Given the description of an element on the screen output the (x, y) to click on. 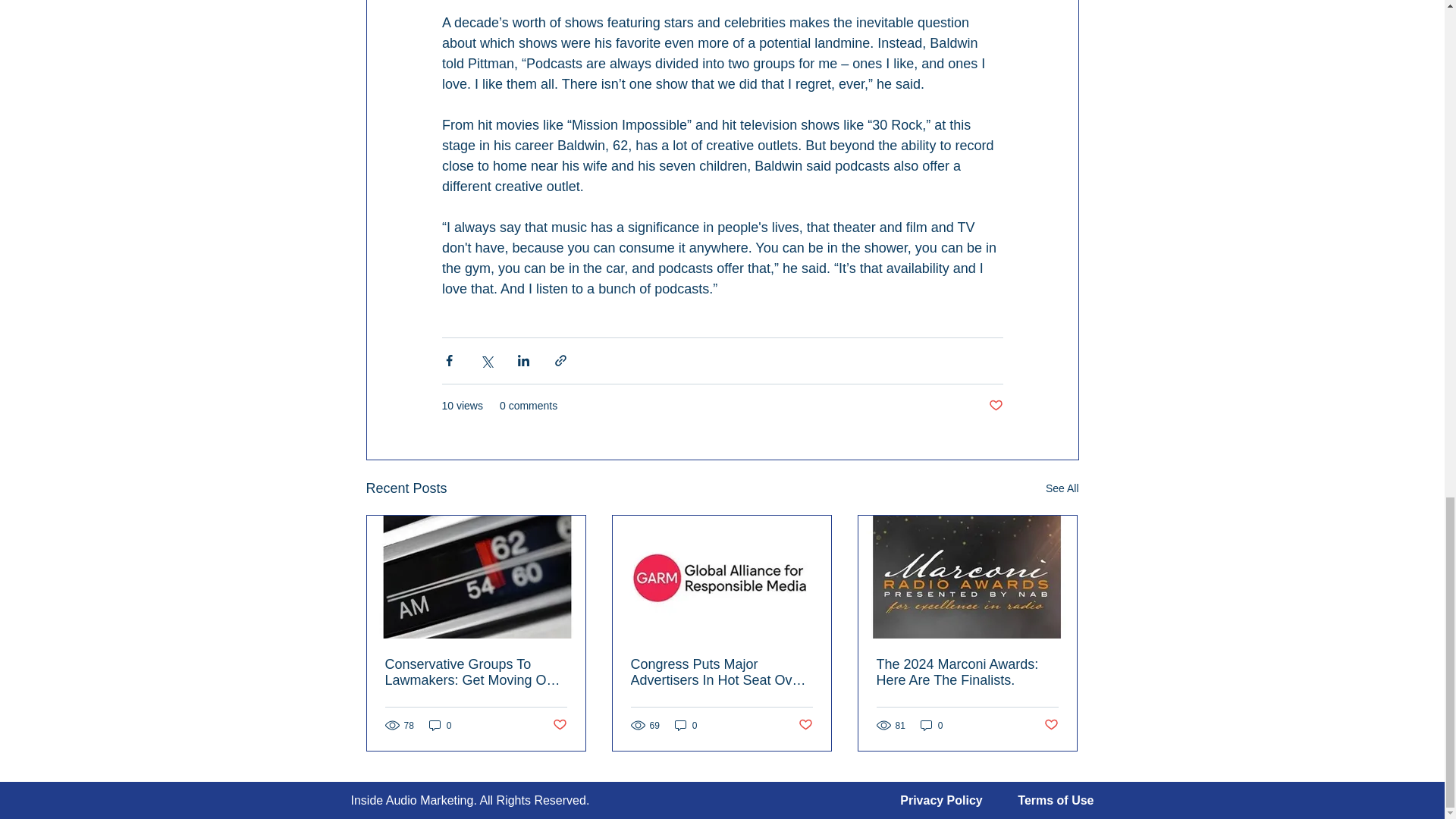
0 (440, 725)
Privacy Policy (940, 799)
0 (685, 725)
Post not marked as liked (995, 406)
Post not marked as liked (804, 725)
Post not marked as liked (558, 725)
Inside Audio Marketing. All Rights Reserved. (469, 799)
Terms of Use (1055, 799)
The 2024 Marconi Awards: Here Are The Finalists. (967, 672)
0 (931, 725)
